Given the description of an element on the screen output the (x, y) to click on. 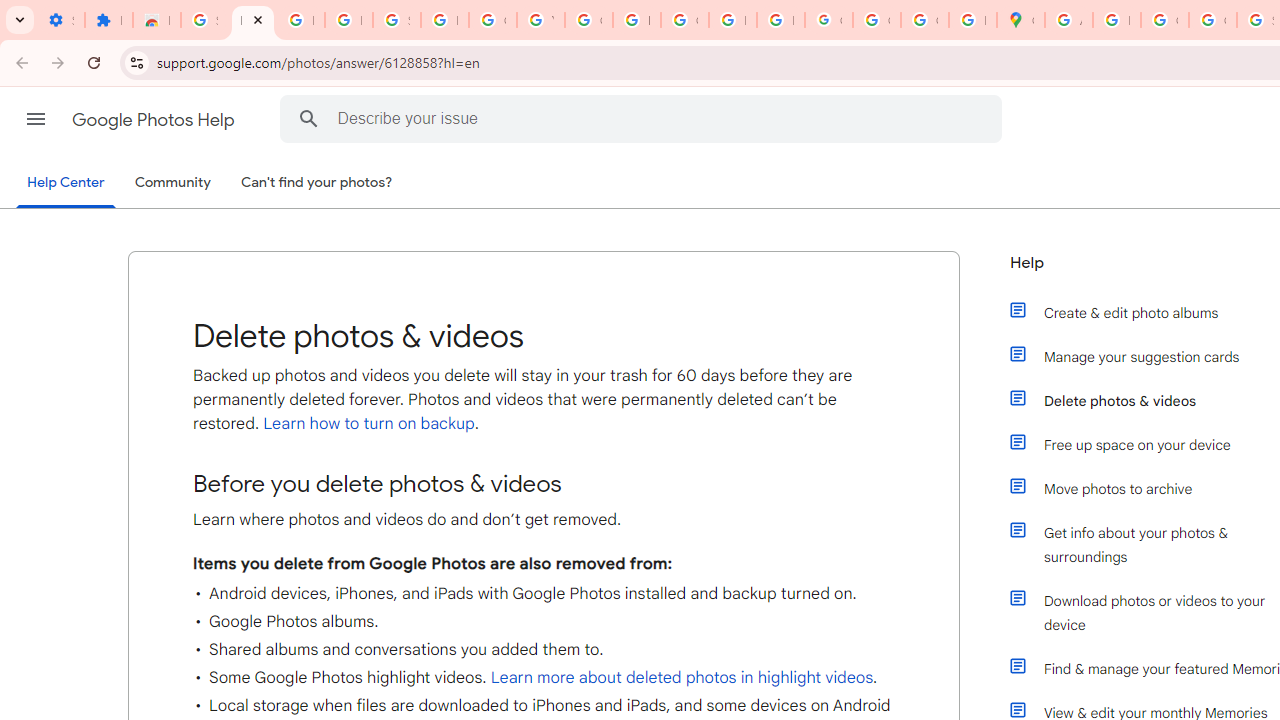
Delete photos & videos - Computer - Google Photos Help (252, 20)
Describe your issue (644, 118)
Settings - On startup (60, 20)
Sign in - Google Accounts (204, 20)
Main menu (35, 119)
Extensions (108, 20)
Can't find your photos? (317, 183)
Google Photos Help (155, 119)
Create your Google Account (1164, 20)
